Given the description of an element on the screen output the (x, y) to click on. 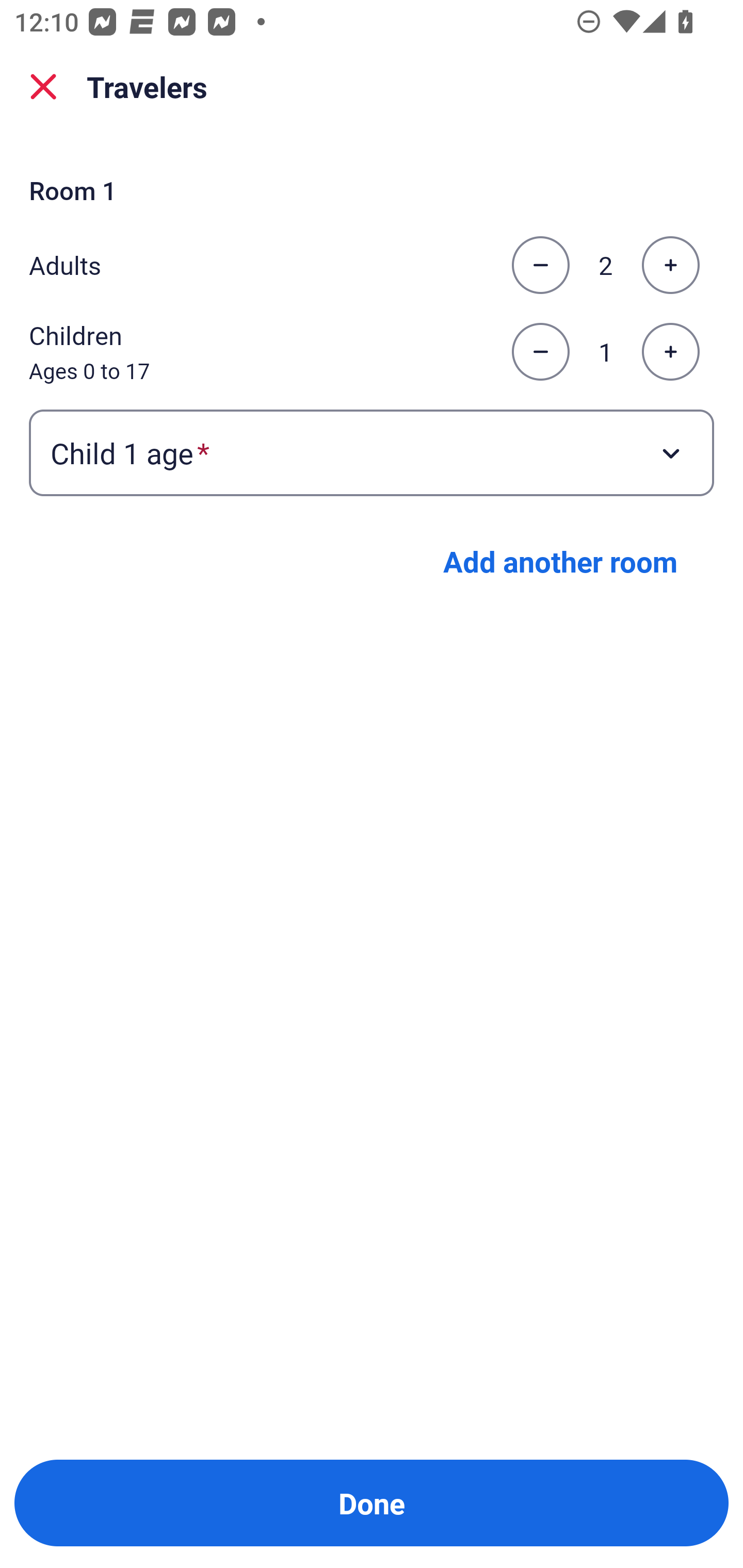
close (43, 86)
Decrease the number of adults (540, 264)
Increase the number of adults (670, 264)
Decrease the number of children (540, 351)
Increase the number of children (670, 351)
Child 1 age required Button (371, 452)
Add another room (560, 561)
Done (371, 1502)
